Given the description of an element on the screen output the (x, y) to click on. 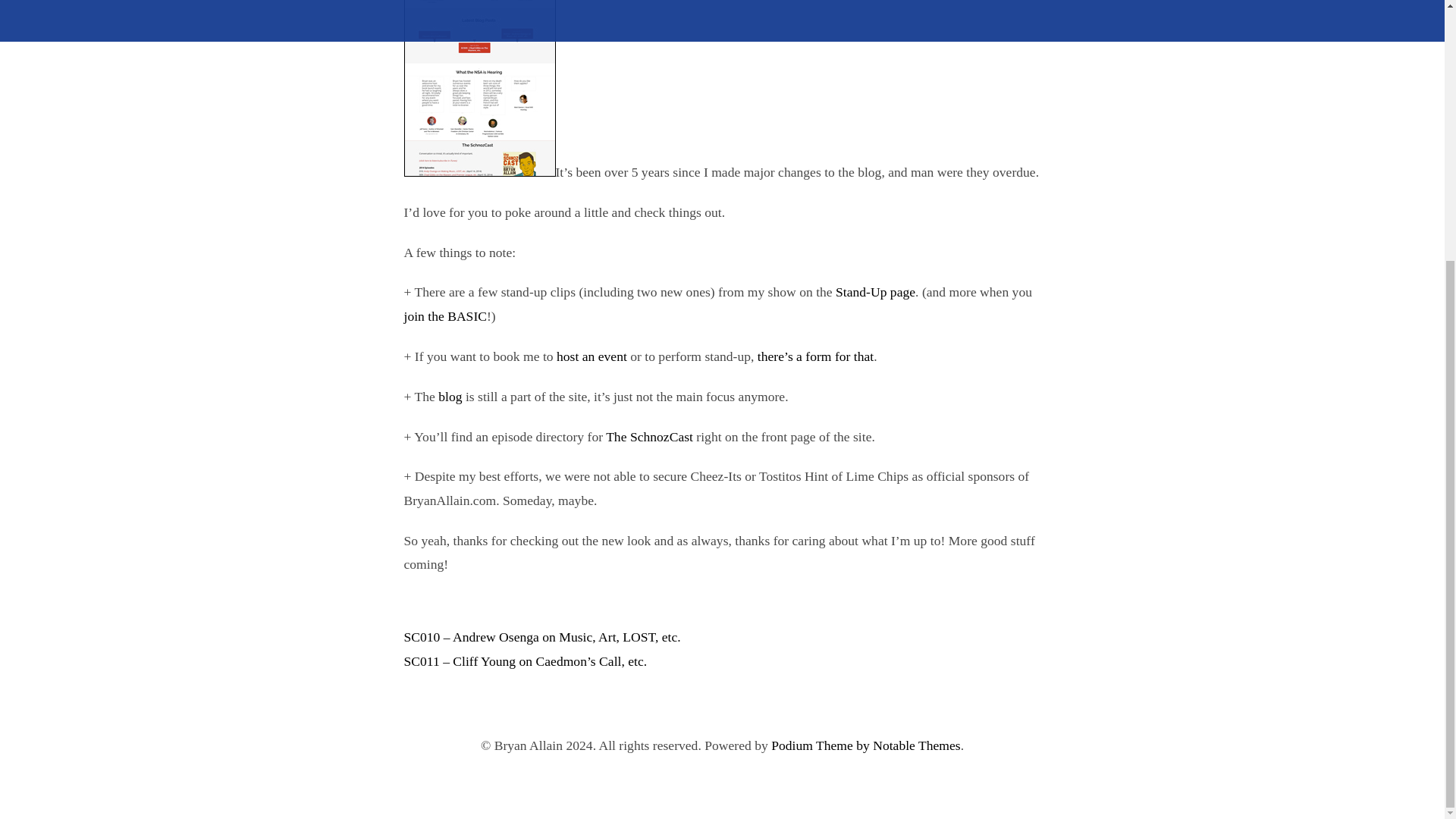
Stand-Up page (875, 291)
Podium Theme by Notable Themes (865, 744)
join the BASIC (444, 315)
host an event (591, 355)
The SchnozCast (649, 435)
blog (449, 396)
